Given the description of an element on the screen output the (x, y) to click on. 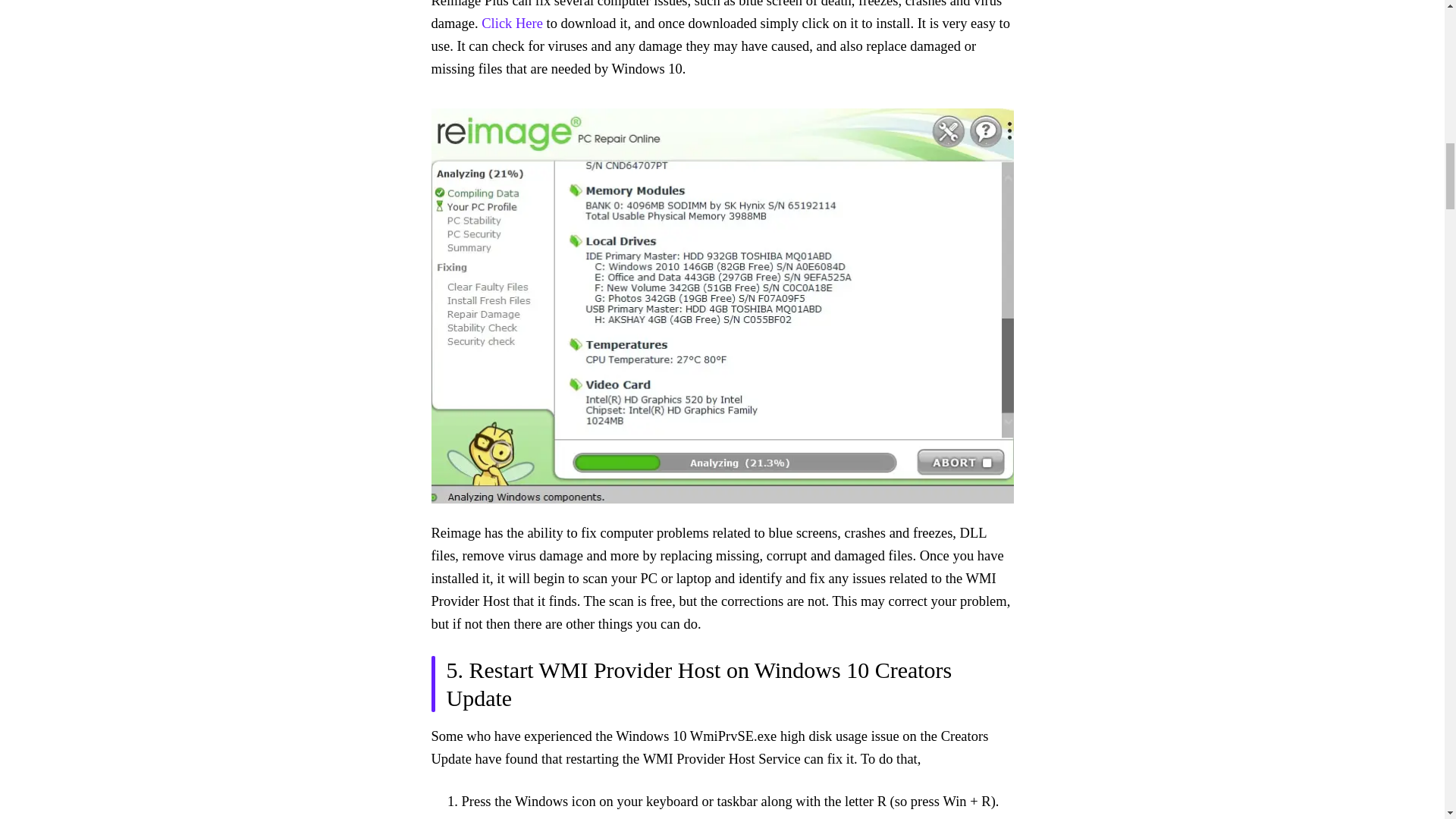
Click Here (512, 23)
